Given the description of an element on the screen output the (x, y) to click on. 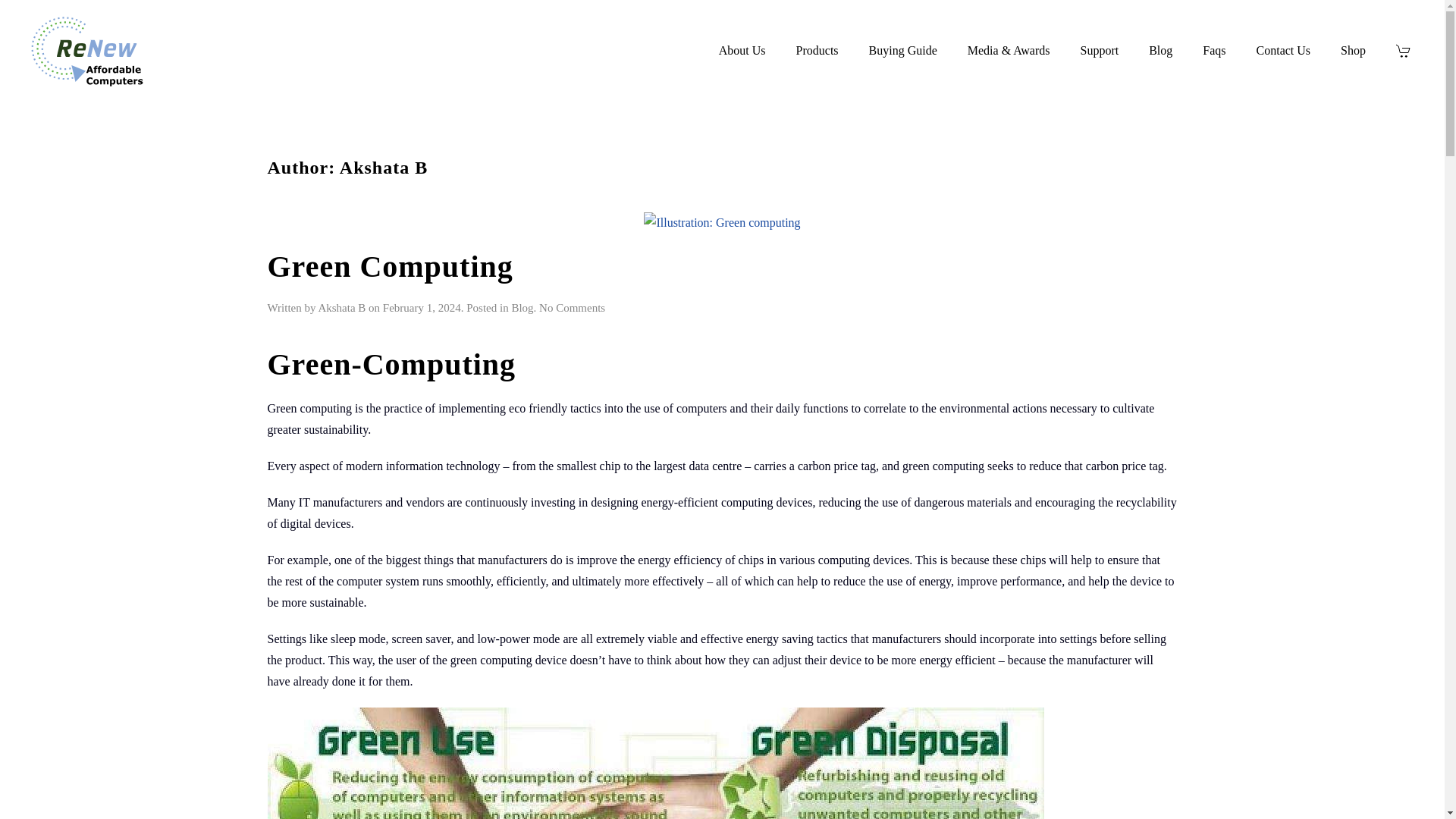
Contact Us (1283, 50)
About Us (742, 50)
Faqs (1213, 50)
Green Computing (389, 266)
Blog (1160, 50)
Blog (521, 307)
Products (817, 50)
Akshata B (341, 307)
Shop (571, 307)
Buying Guide (1352, 50)
Support (903, 50)
